Given the description of an element on the screen output the (x, y) to click on. 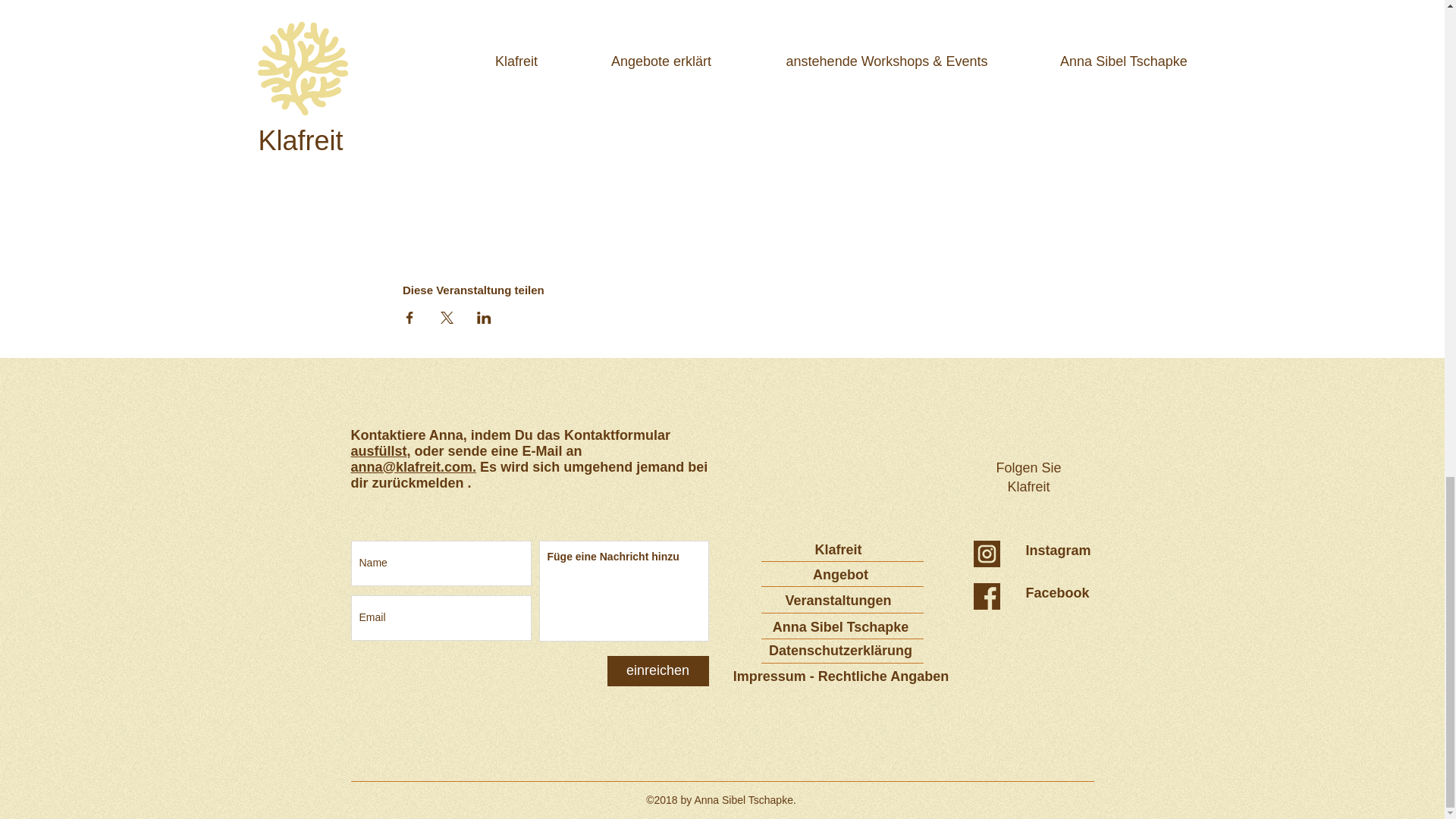
Veranstaltungen (839, 600)
Klafreit (839, 549)
Angebot (842, 574)
Impressum - Rechtliche Angaben (841, 676)
einreichen (657, 671)
melden (440, 482)
Anna Sibel Tschapke (842, 627)
